Given the description of an element on the screen output the (x, y) to click on. 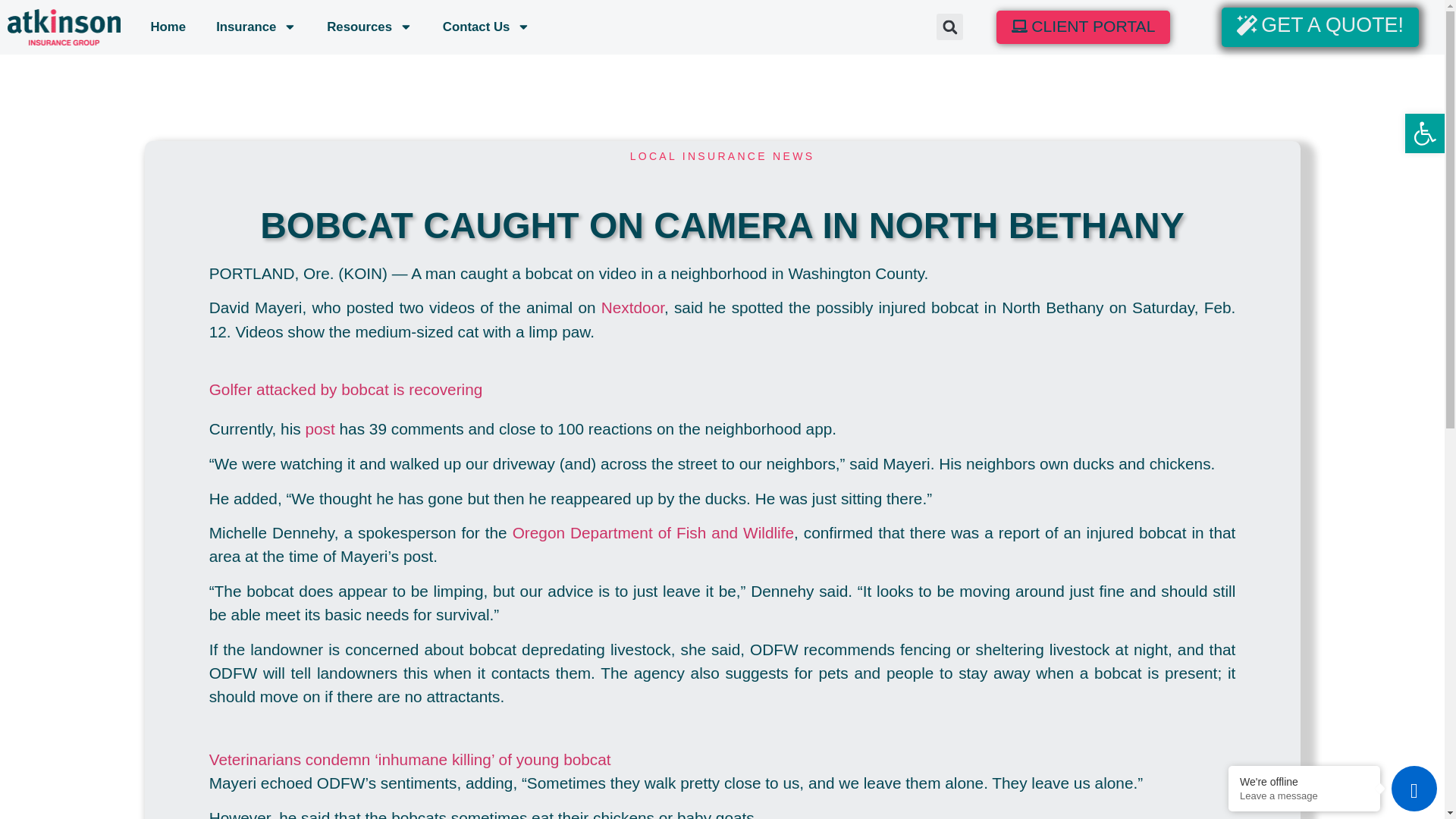
Home (167, 27)
Insurance (255, 27)
Leave a message (1304, 795)
Accessibility Tools (1424, 133)
We're offline (1304, 781)
Resources (369, 27)
